Given the description of an element on the screen output the (x, y) to click on. 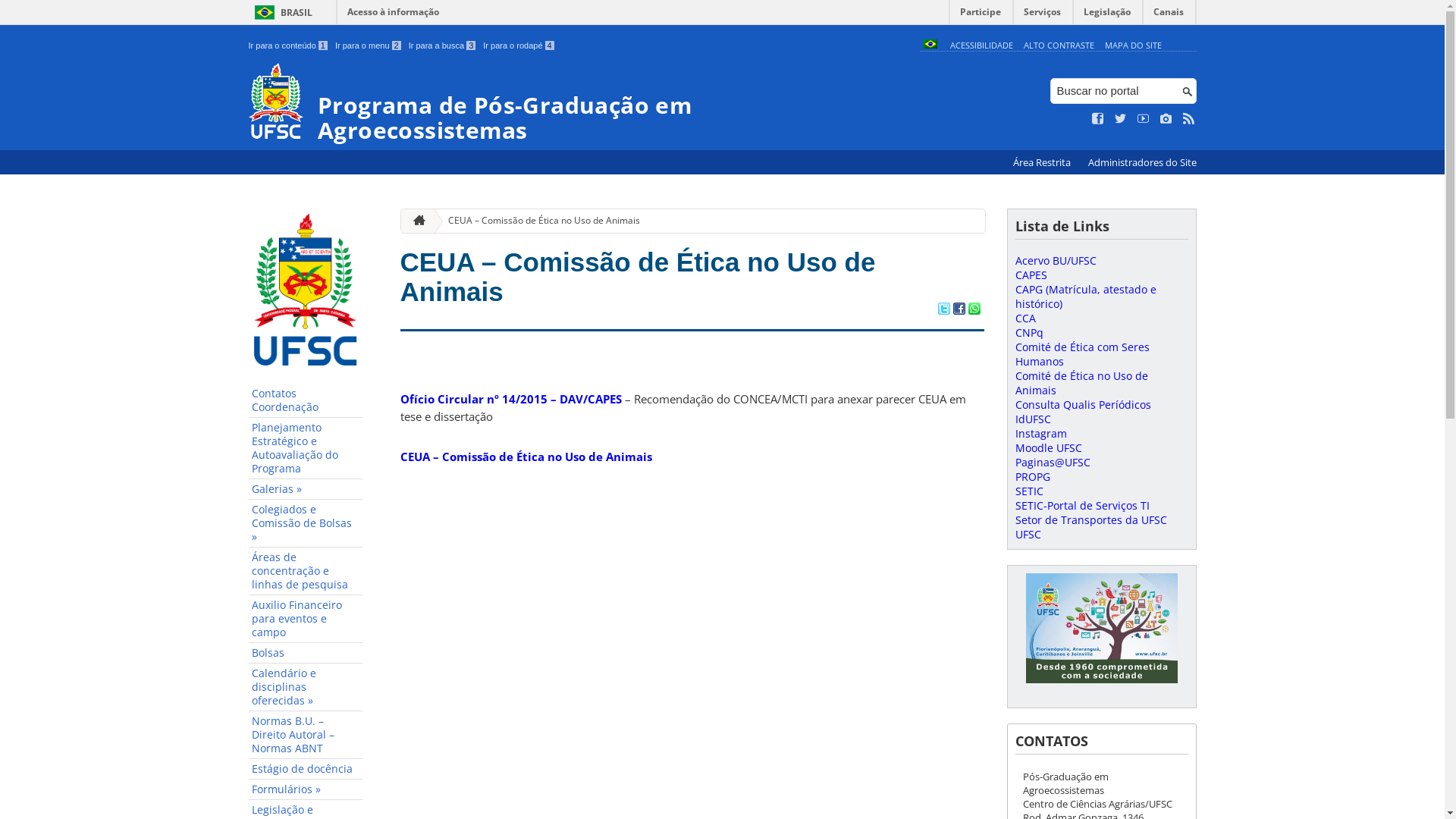
Ir para a busca 3 Element type: text (442, 45)
CAPES Element type: text (1030, 274)
Paginas@UFSC Element type: text (1051, 462)
Bolsas Element type: text (305, 653)
Ir para o menu 2 Element type: text (368, 45)
ALTO CONTRASTE Element type: text (1058, 44)
Administradores do Site Element type: text (1141, 162)
ACESSIBILIDADE Element type: text (981, 44)
IdUFSC Element type: text (1032, 418)
CNPq Element type: text (1028, 332)
Curta no Facebook Element type: hover (1098, 118)
Compartilhar no Facebook Element type: hover (958, 309)
Instagram Element type: text (1040, 433)
Participe Element type: text (980, 15)
Moodle UFSC Element type: text (1047, 447)
Veja no Instagram Element type: hover (1166, 118)
Compartilhar no Twitter Element type: hover (943, 309)
Auxilio Financeiro para eventos e campo Element type: text (305, 619)
SETIC Element type: text (1028, 490)
BRASIL Element type: text (280, 12)
Compartilhar no WhatsApp Element type: hover (973, 309)
Siga no Twitter Element type: hover (1120, 118)
Acervo BU/UFSC Element type: text (1054, 260)
Setor de Transportes da UFSC Element type: text (1090, 519)
UFSC Element type: text (1027, 534)
Canais Element type: text (1169, 15)
PROPG Element type: text (1031, 476)
MAPA DO SITE Element type: text (1132, 44)
CCA Element type: text (1024, 317)
